Given the description of an element on the screen output the (x, y) to click on. 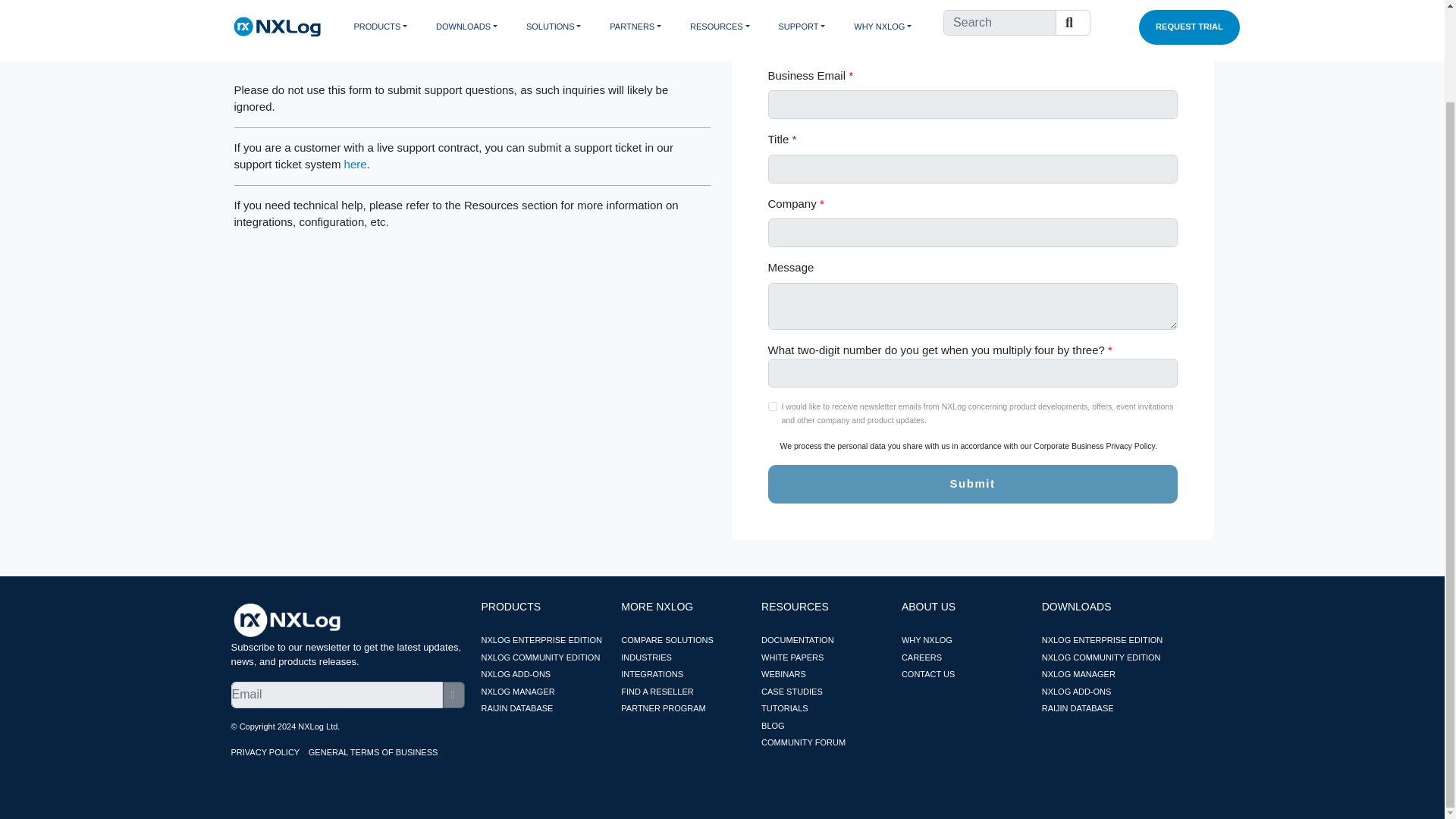
on (771, 406)
